Given the description of an element on the screen output the (x, y) to click on. 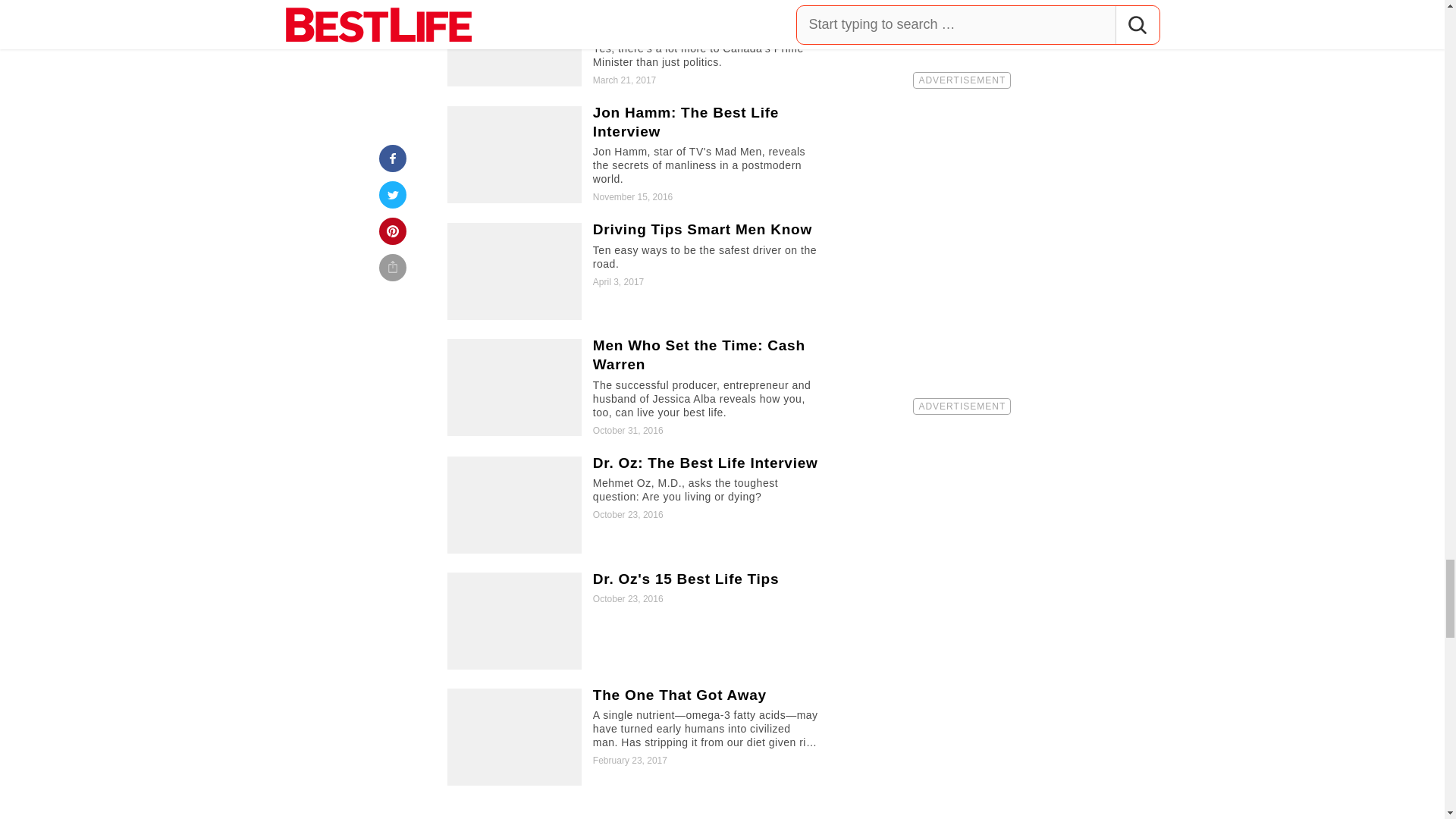
10 Things You Didn't Know about Justin Trudeau (635, 43)
Dr. Oz's 15 Best Life Tips (635, 620)
Jon Hamm: The Best Life Interview (635, 154)
Dr. Oz: The Best Life Interview (635, 504)
Driving Tips Smart Men Know (635, 271)
Men Who Set the Time: Cash Warren (635, 387)
